Given the description of an element on the screen output the (x, y) to click on. 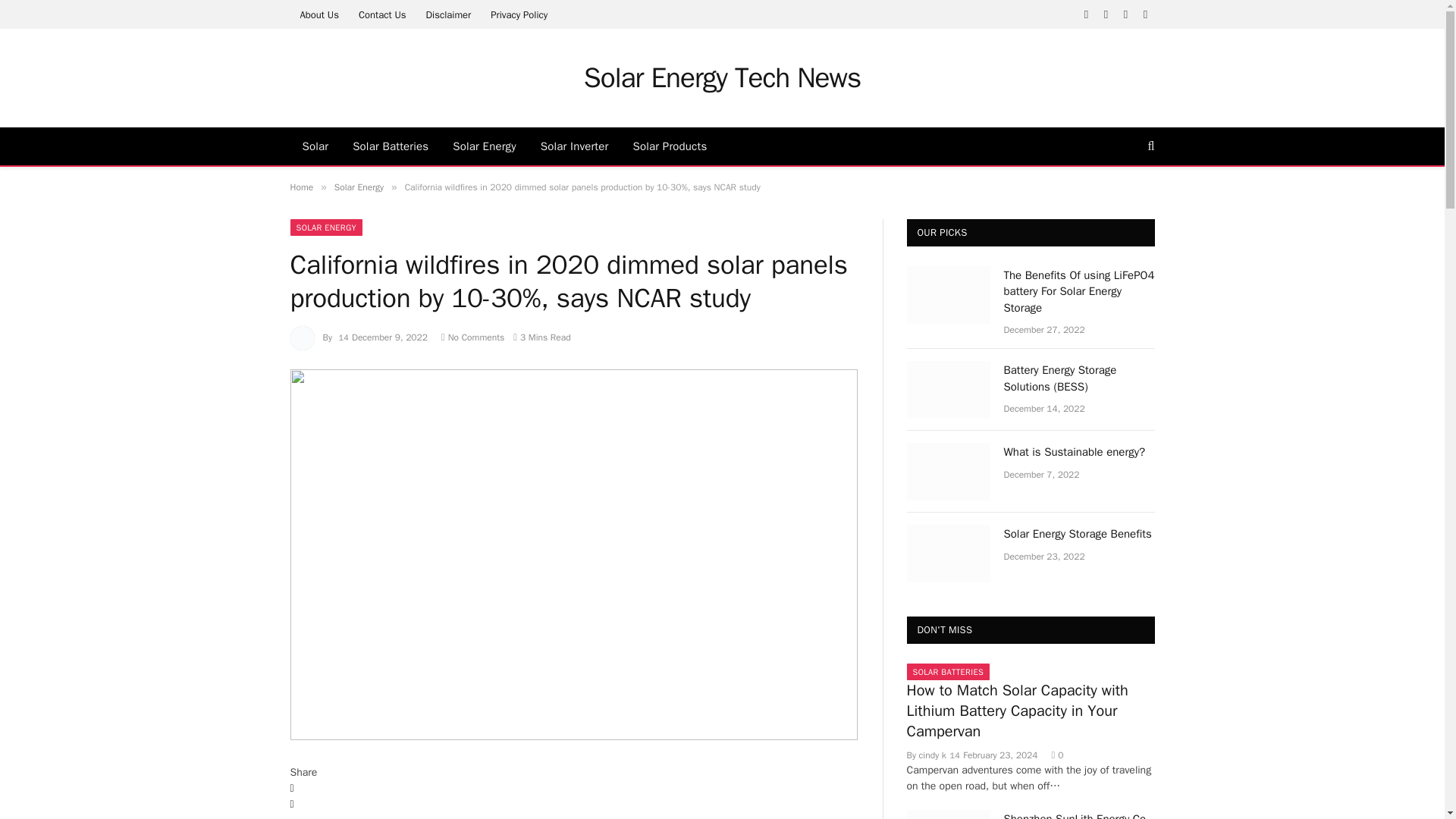
No Comments (472, 337)
Disclaimer (447, 14)
Solar Energy Tech News (721, 77)
SOLAR ENERGY (325, 227)
Solar Products (670, 146)
Solar Batteries (390, 146)
YouTube (1144, 14)
Home (301, 186)
Solar Energy Tech News (721, 77)
Solar Energy (484, 146)
Contact Us (382, 14)
Solar Energy (359, 186)
Twitter (573, 805)
Facebook (573, 789)
Instagram (1125, 14)
